Given the description of an element on the screen output the (x, y) to click on. 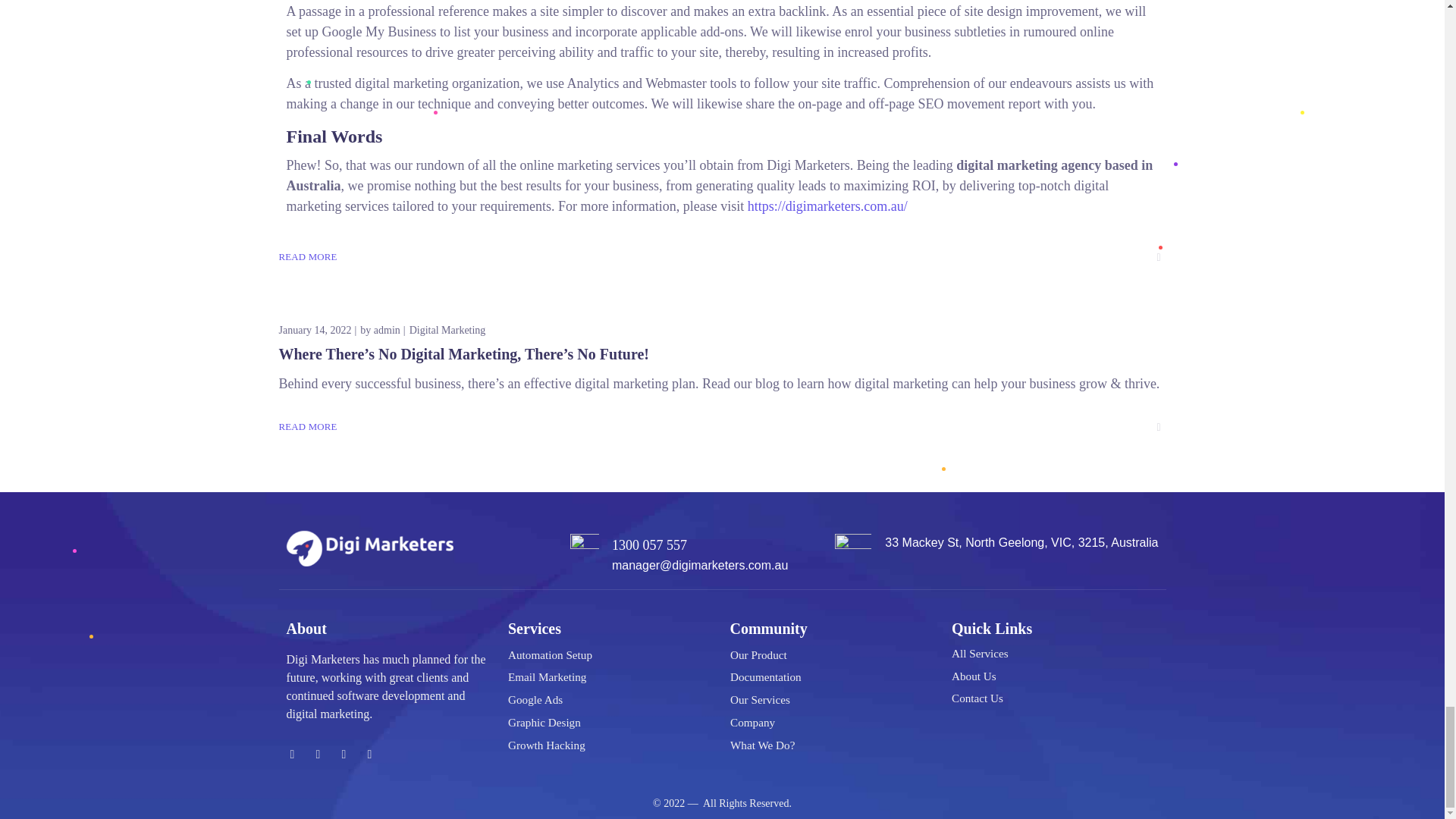
Asset 1 (369, 548)
